Given the description of an element on the screen output the (x, y) to click on. 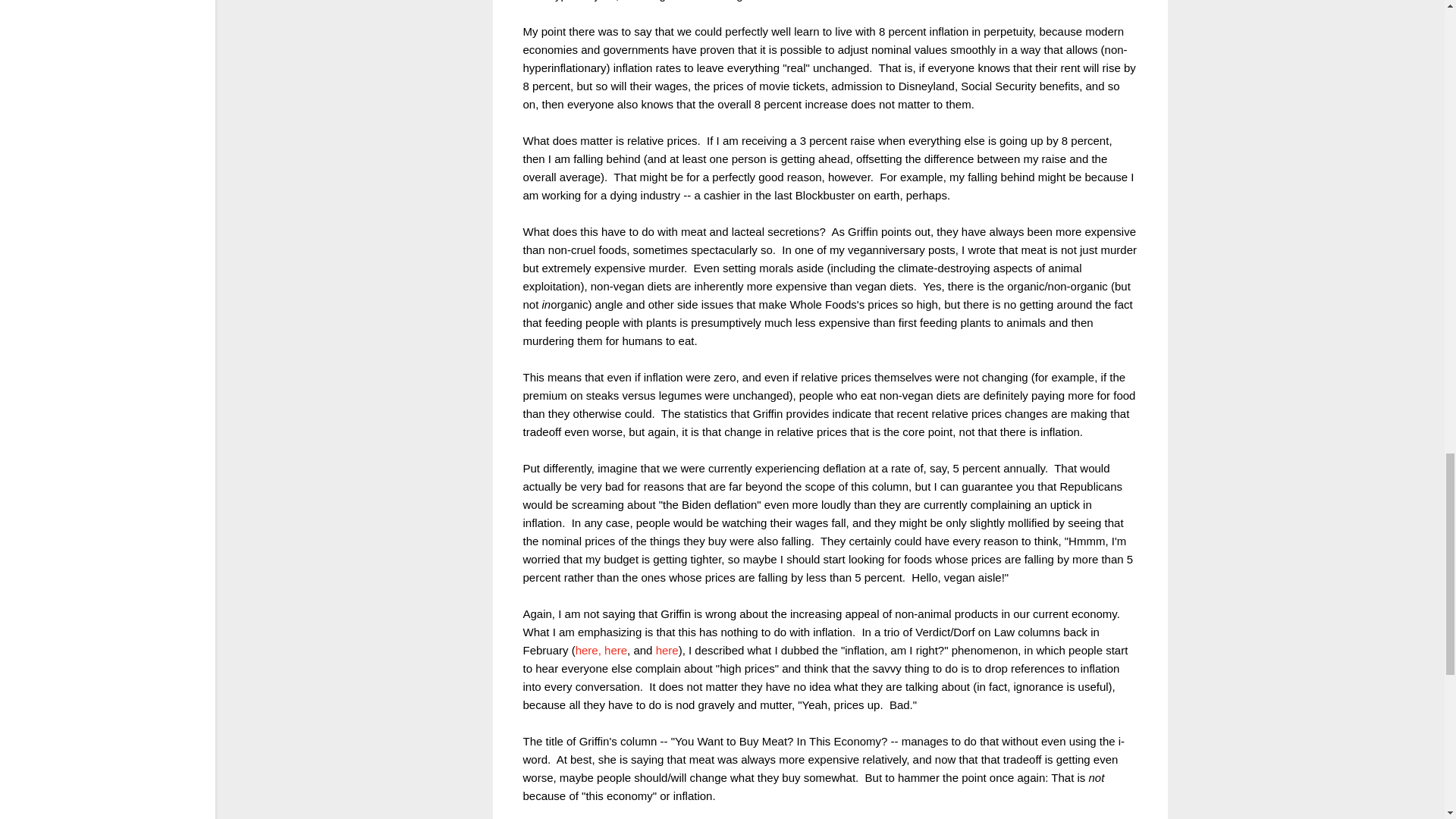
here, (588, 649)
here (667, 649)
here (615, 649)
